Given the description of an element on the screen output the (x, y) to click on. 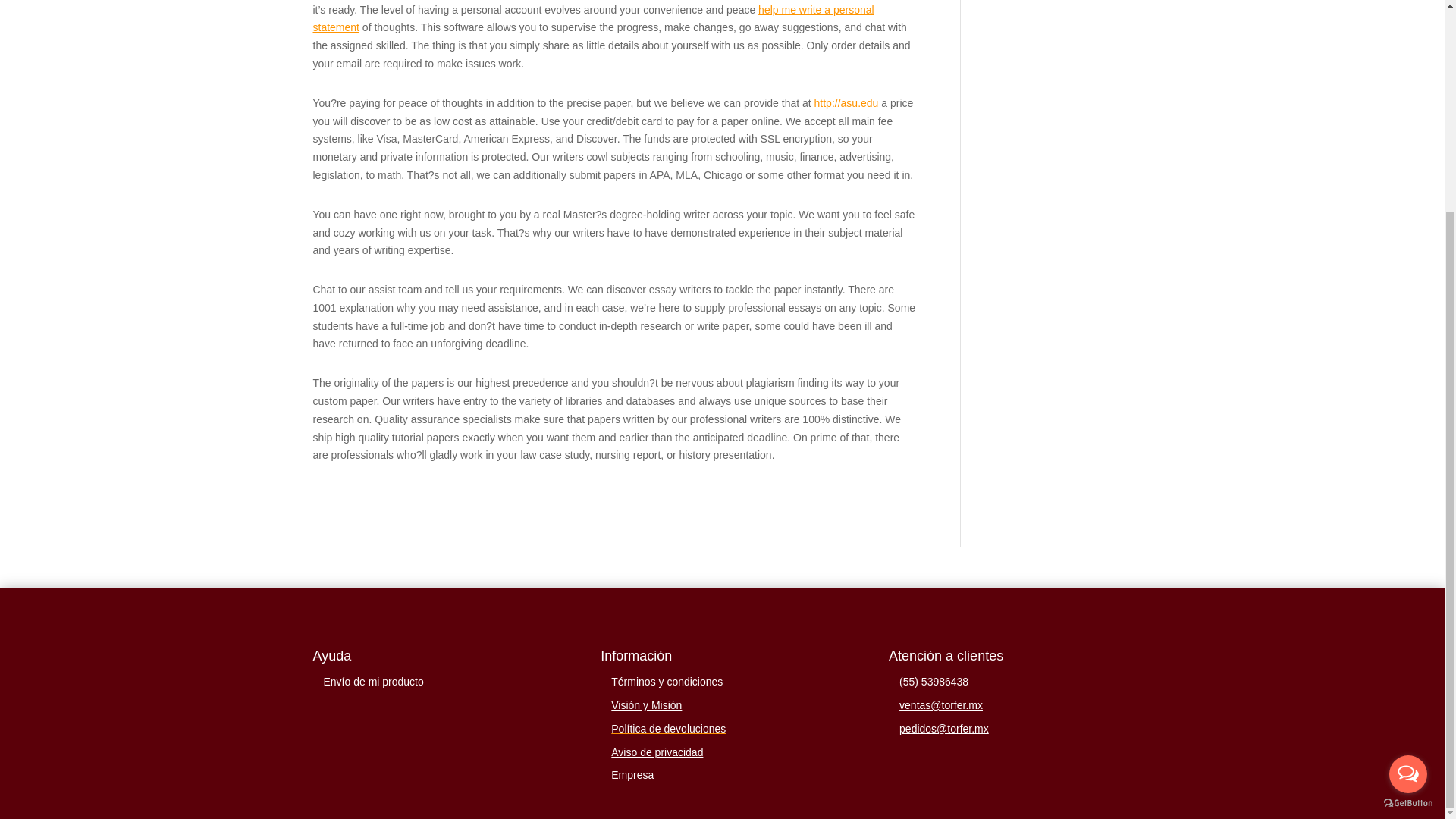
Aviso de privacidad (657, 752)
help me write a personal statement (593, 19)
Empresa (632, 775)
